Given the description of an element on the screen output the (x, y) to click on. 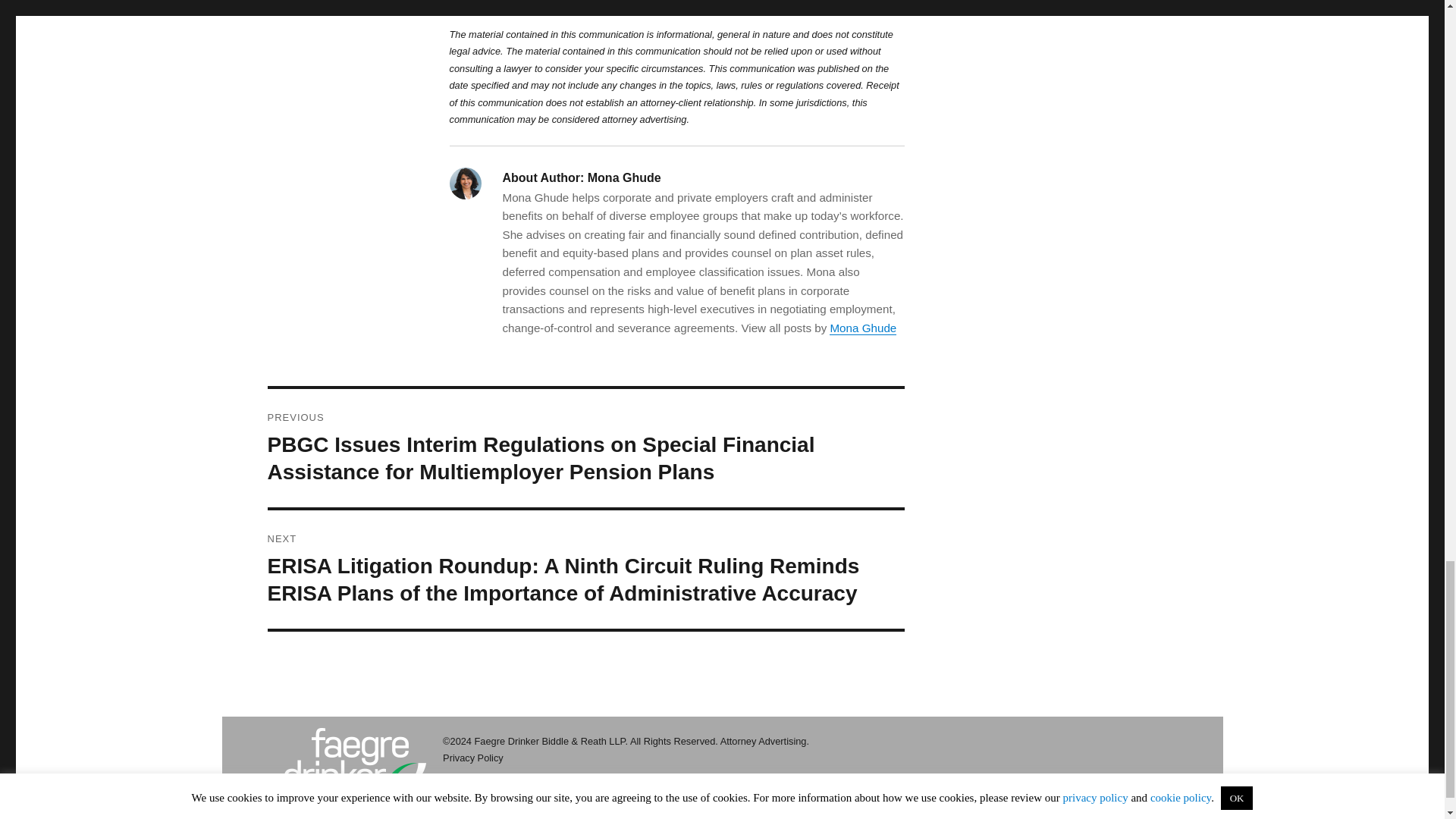
Mona Ghude (862, 327)
Posts by Mona Ghude (862, 327)
